Given the description of an element on the screen output the (x, y) to click on. 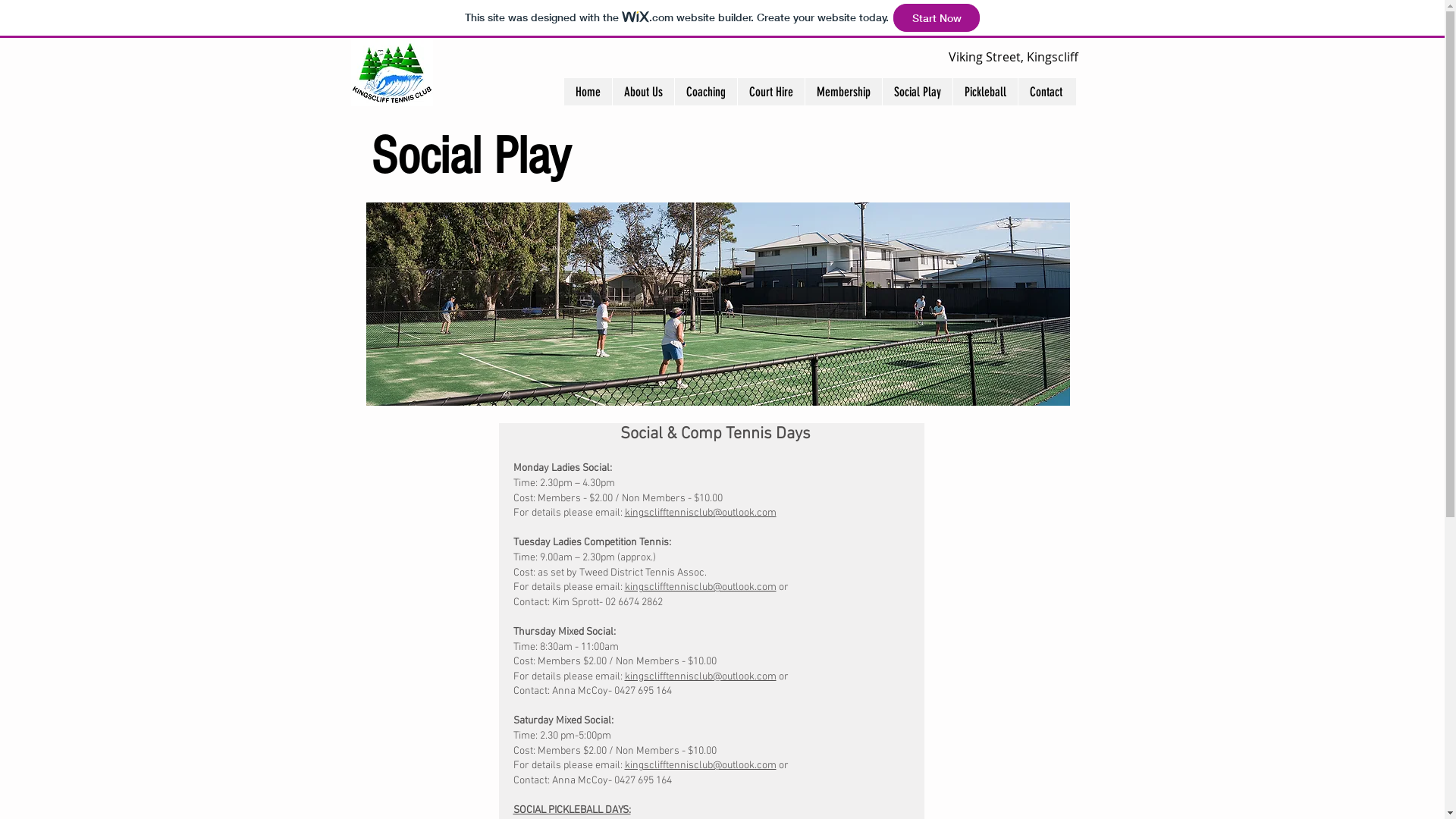
Court Hire Element type: text (770, 91)
kingsclifftennisclub@outlook.com Element type: text (700, 512)
Contact Element type: text (1045, 91)
kingsclifftennisclub@outlook.com Element type: text (700, 765)
kingsclifftennisclub@outlook.com Element type: text (700, 676)
About Us Element type: text (642, 91)
Pickleball Element type: text (984, 91)
Coaching Element type: text (704, 91)
Membership Element type: text (842, 91)
kingsclifftennisclub@outlook.com Element type: text (700, 586)
DSC_3335.JPG Element type: hover (717, 303)
Home Element type: text (587, 91)
